Given the description of an element on the screen output the (x, y) to click on. 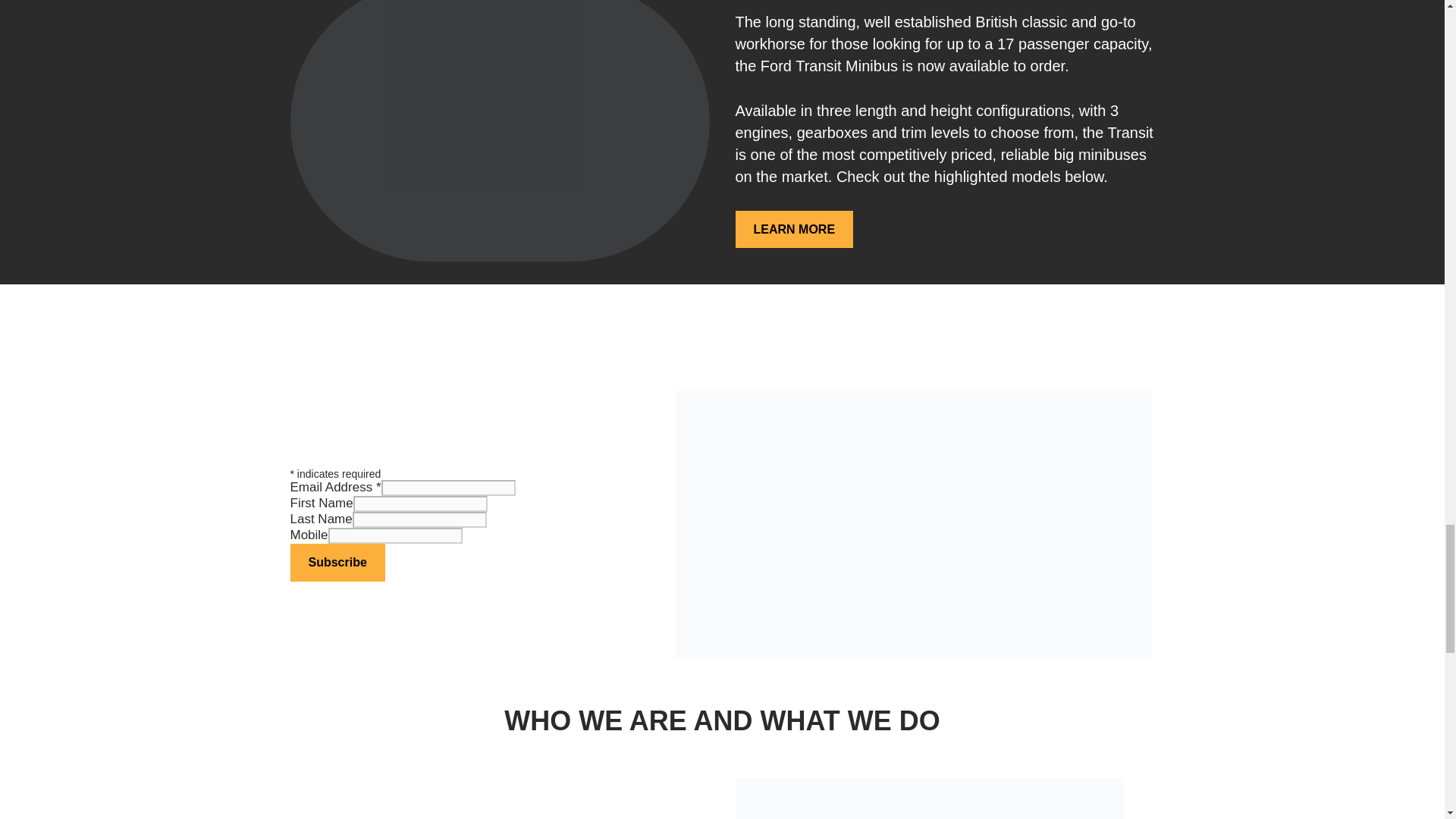
Subscribe (336, 562)
